Given the description of an element on the screen output the (x, y) to click on. 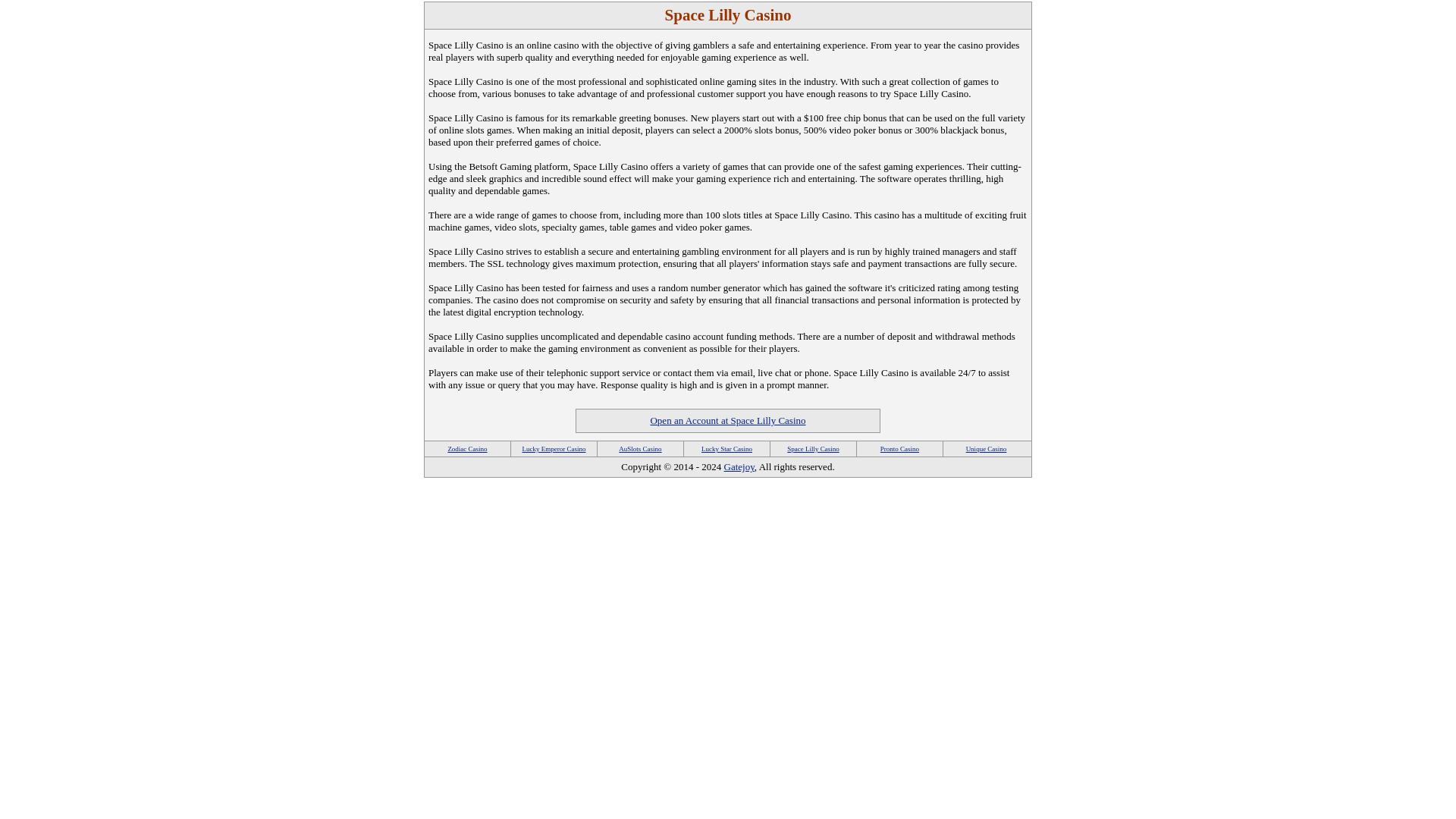
Zodiac Casino (466, 448)
AuSlots Casino (639, 448)
Lucky Star Casino (726, 448)
Pronto Casino (899, 448)
Unique Casino (986, 448)
Open an Account at Space Lilly Casino (727, 419)
Lucky Emperor Casino (553, 448)
Gatejoy (738, 466)
Space Lilly Casino (813, 448)
